Given the description of an element on the screen output the (x, y) to click on. 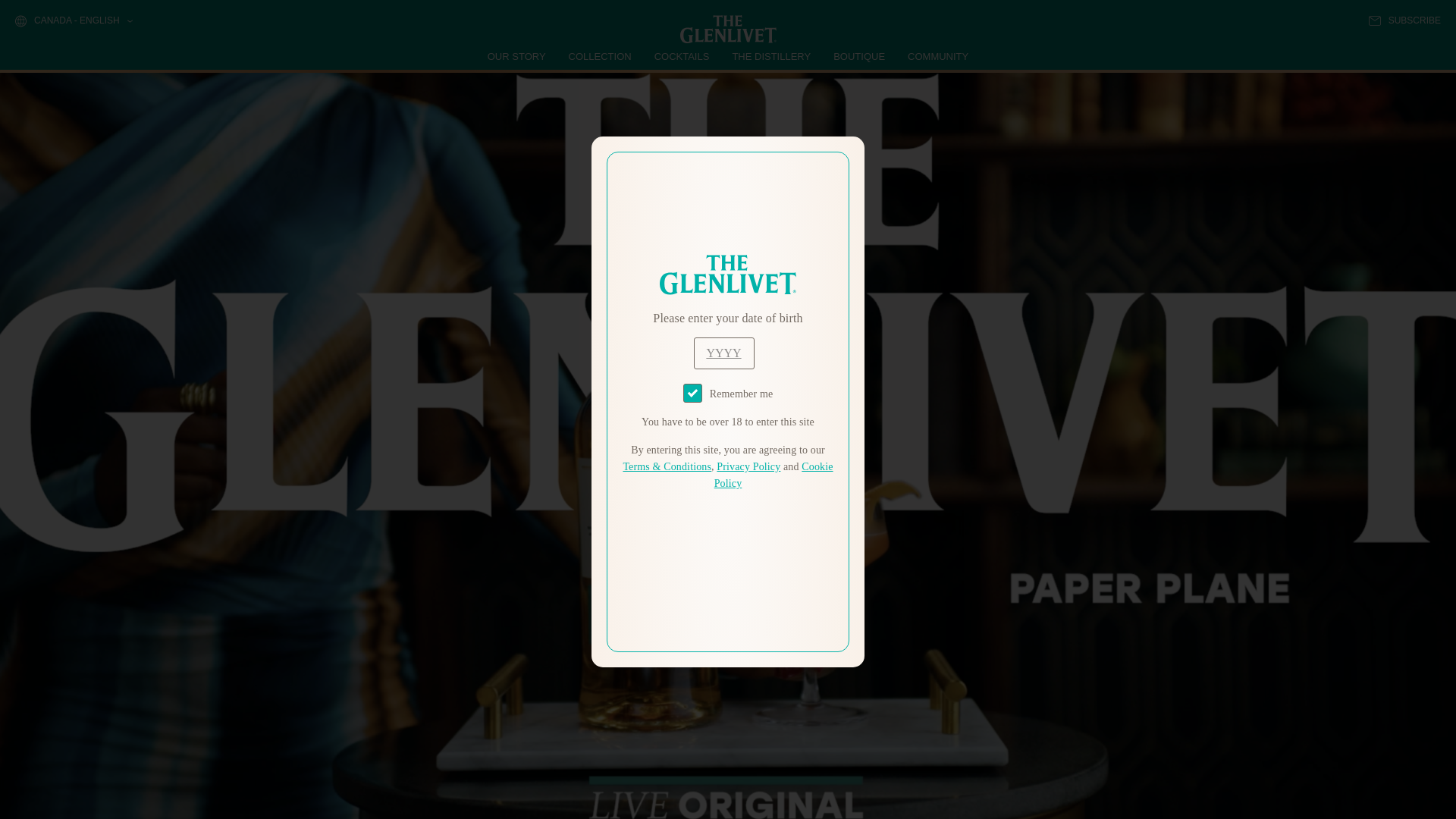
BOUTIQUE (858, 56)
OUR STORY (516, 56)
SUBSCRIBE (1404, 20)
COMMUNITY (937, 56)
Cookie Policy (773, 474)
COLLECTION (600, 56)
THE DISTILLERY (771, 56)
COCKTAILS (681, 56)
year (723, 353)
CANADA - ENGLISH (73, 21)
Privacy Policy (748, 466)
